Given the description of an element on the screen output the (x, y) to click on. 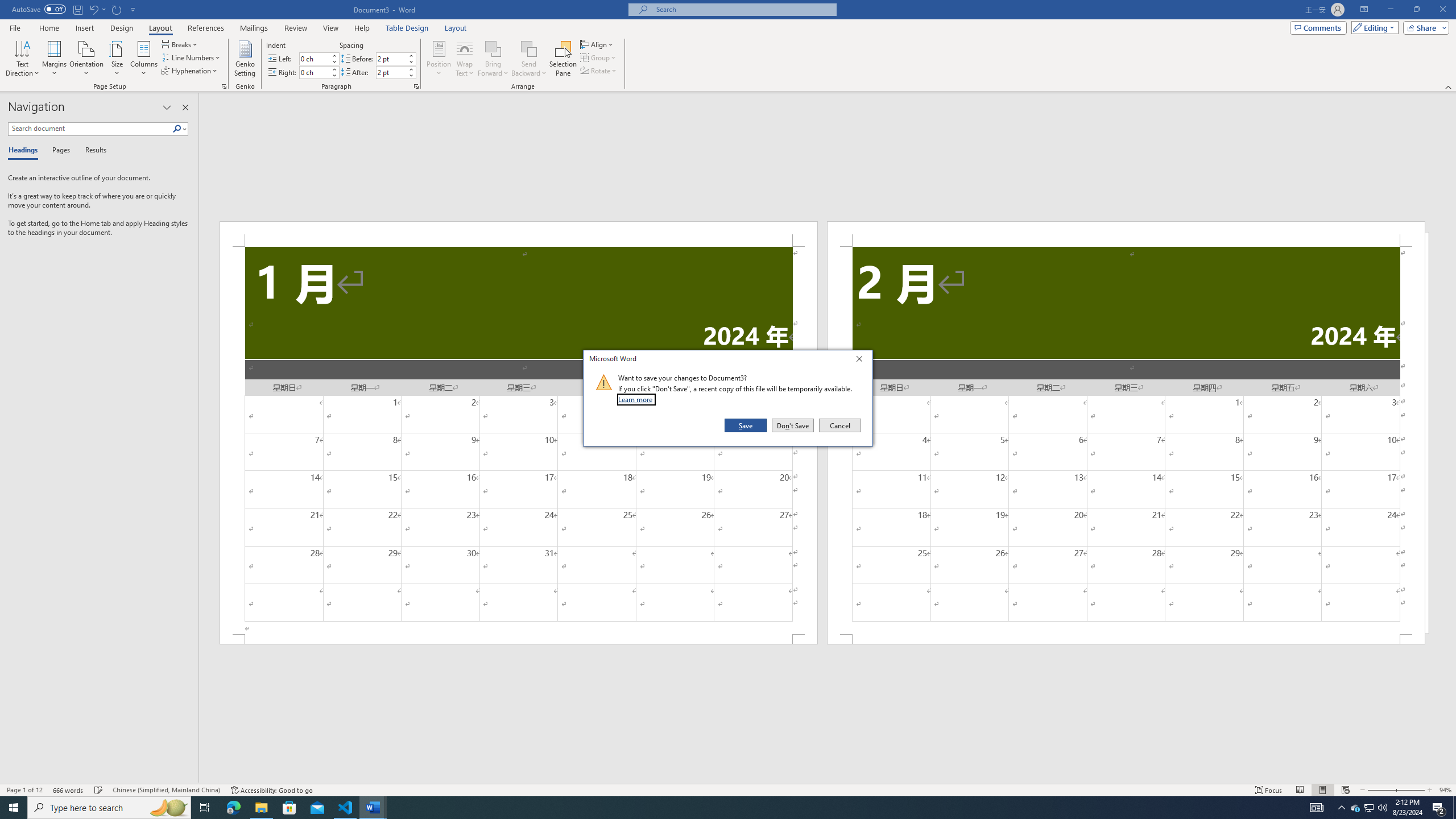
Action Center, 2 new notifications (1439, 807)
Repeat Doc Close (117, 9)
Page Setup... (223, 85)
Size (1368, 807)
Line Numbers (116, 58)
Header -Section 1- (191, 56)
Microsoft Edge (518, 233)
Notification Chevron (233, 807)
Spacing After (1341, 807)
Class: MsoCommandBar (391, 72)
